Given the description of an element on the screen output the (x, y) to click on. 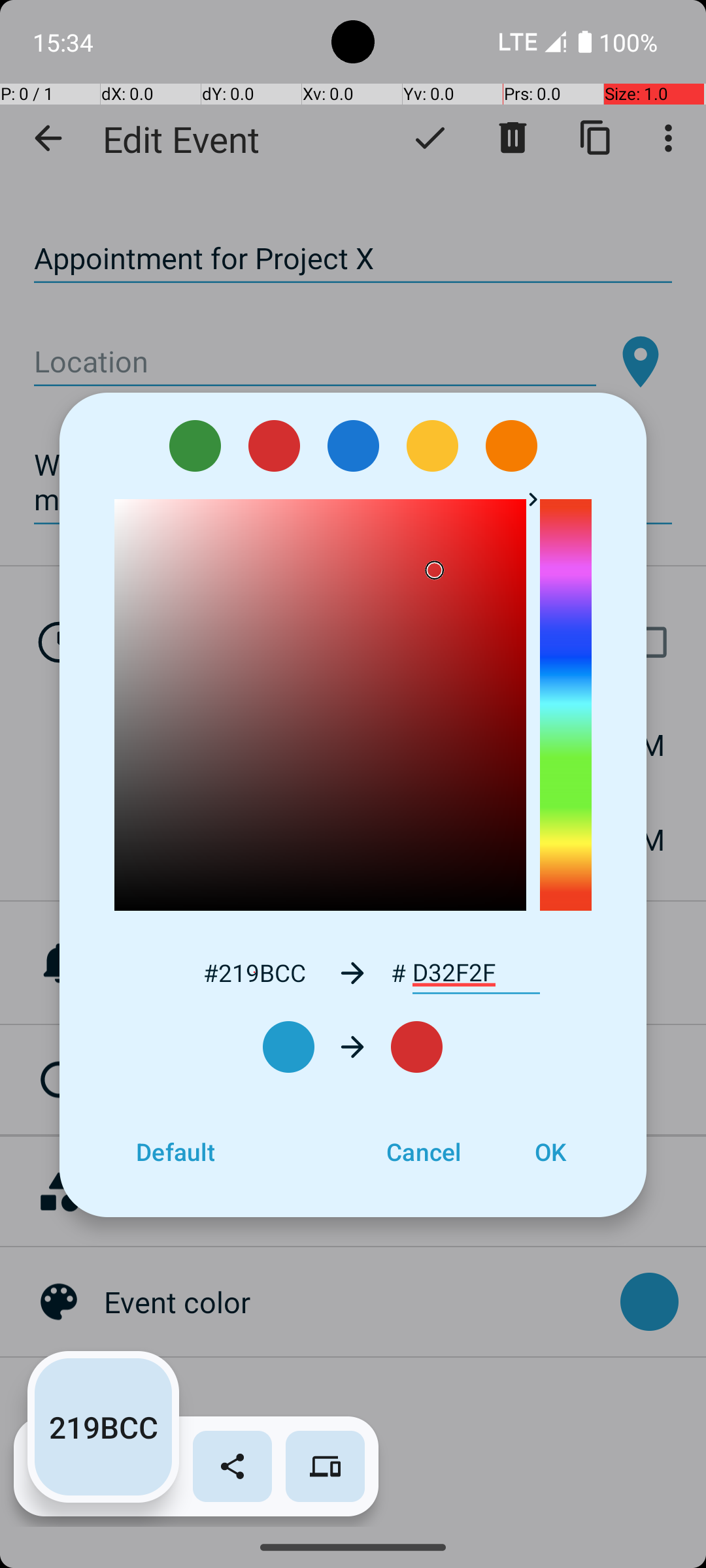
D32F2F Element type: android.widget.EditText (475, 972)
219BCC Element type: android.widget.TextView (102, 1426)
Send to nearby device Element type: android.widget.FrameLayout (324, 1466)
